Given the description of an element on the screen output the (x, y) to click on. 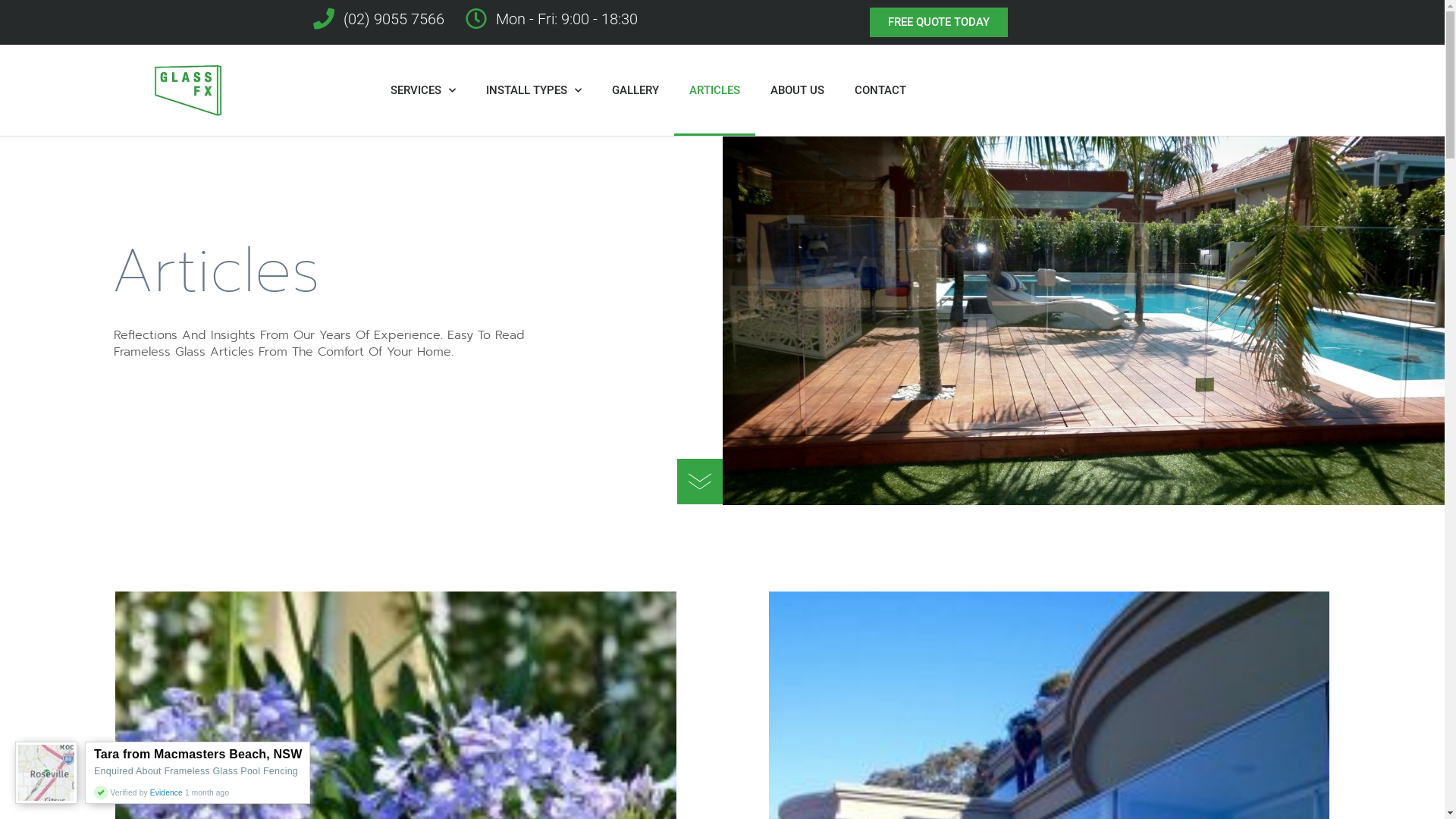
GALLERY Element type: text (635, 89)
Evidence Element type: text (167, 792)
INSTALL TYPES Element type: text (533, 89)
ARTICLES Element type: text (714, 89)
CONTACT Element type: text (880, 89)
FREE QUOTE TODAY Element type: text (938, 22)
(02) 9055 7566 Element type: text (377, 18)
ABOUT US Element type: text (797, 89)
SERVICES Element type: text (422, 89)
